Given the description of an element on the screen output the (x, y) to click on. 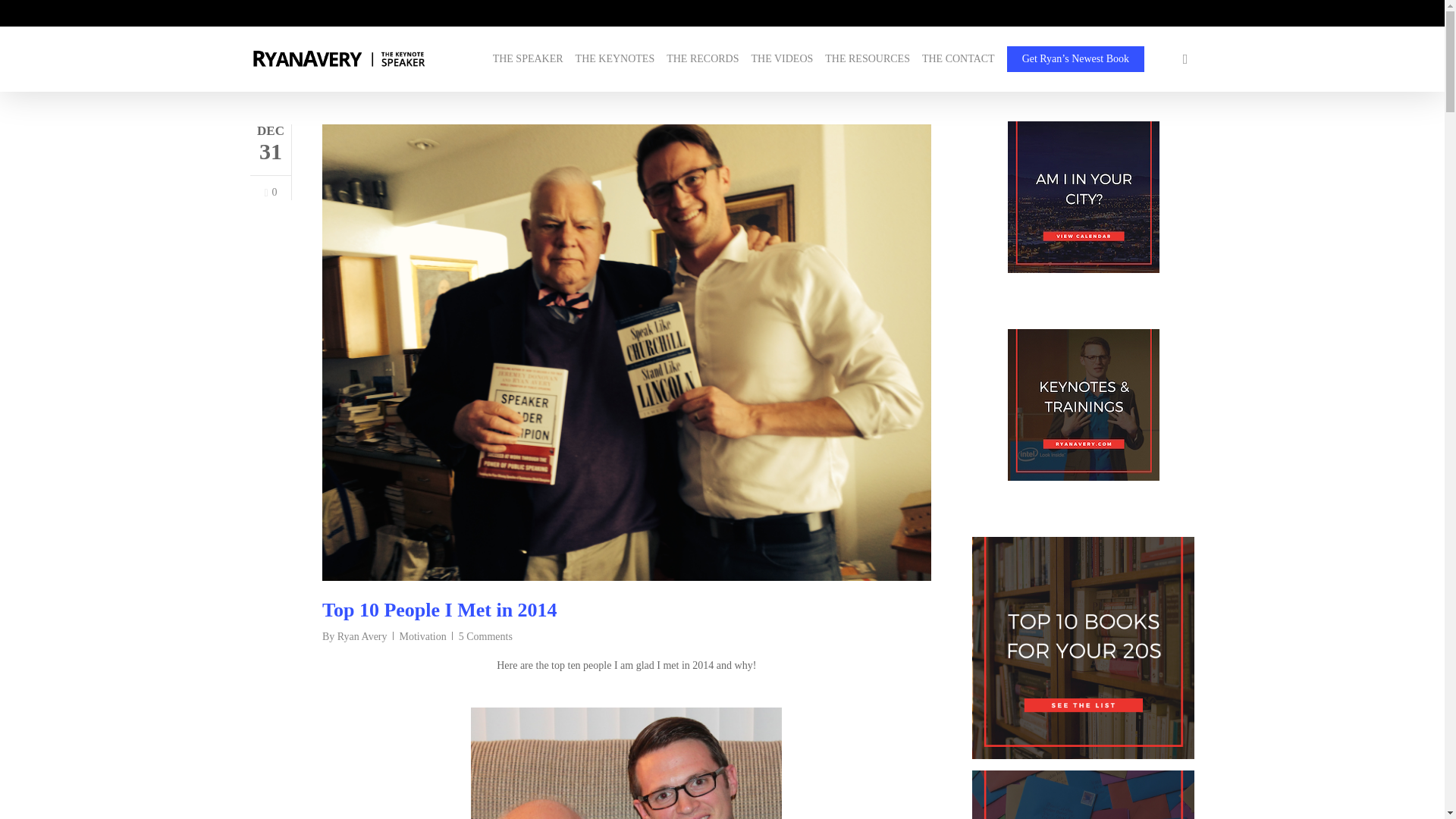
Motivation (422, 636)
THE KEYNOTES (615, 58)
Posts by Ryan Avery (362, 636)
search (1184, 58)
Top 10 People I Met in 2014 (439, 609)
THE SPEAKER (528, 58)
THE VIDEOS (781, 58)
THE RECORDS (702, 58)
5 Comments (485, 636)
0 (269, 193)
THE CONTACT (957, 58)
Ryan Avery (362, 636)
Love this (269, 193)
THE RESOURCES (867, 58)
